Given the description of an element on the screen output the (x, y) to click on. 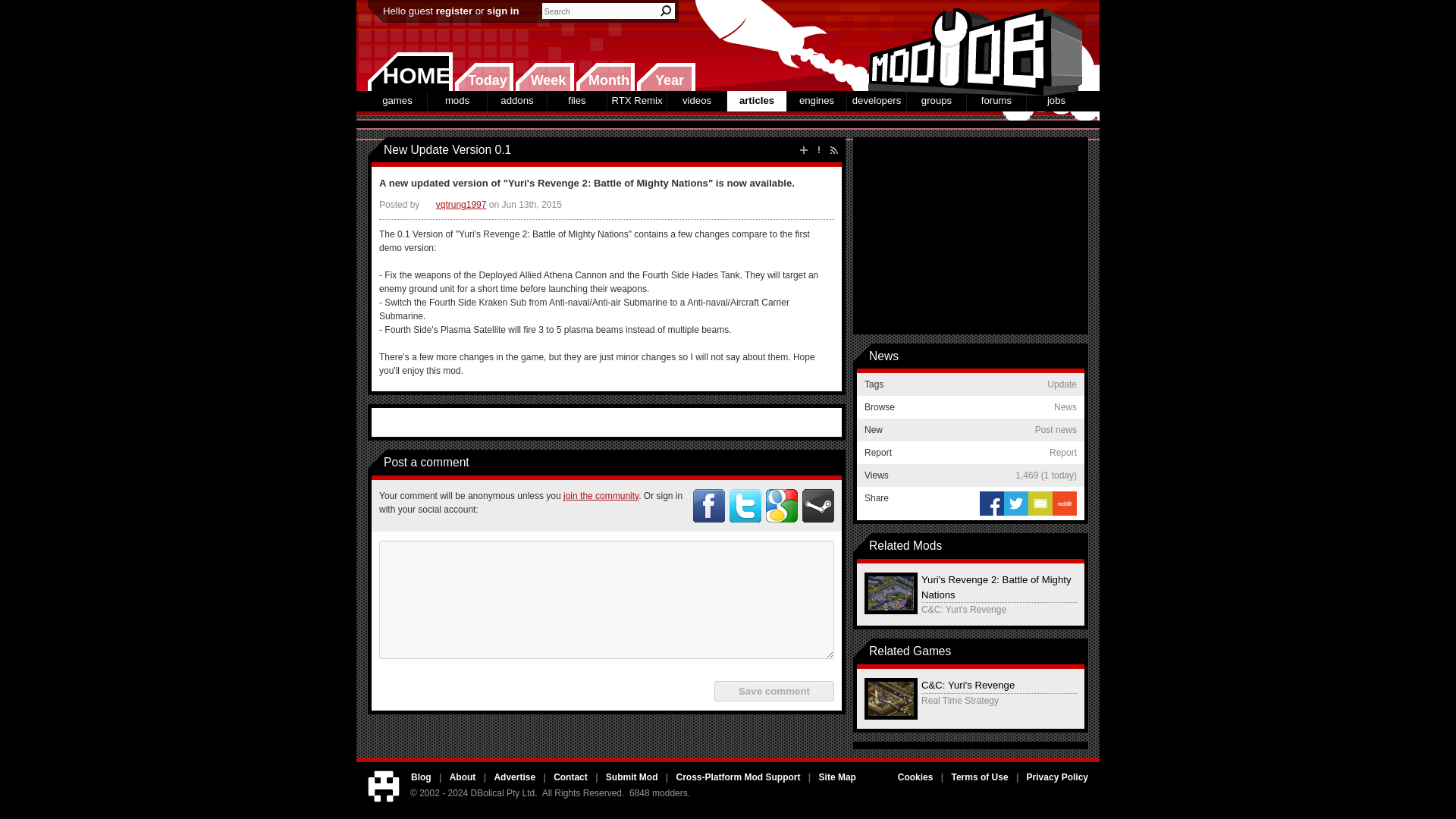
Week (545, 76)
Search ModDB (666, 10)
Search (666, 10)
Report (818, 150)
mods (457, 100)
ModDB Home (970, 45)
New this year (666, 76)
RTX Remix (636, 100)
New this month (605, 76)
New this week (545, 76)
